Given the description of an element on the screen output the (x, y) to click on. 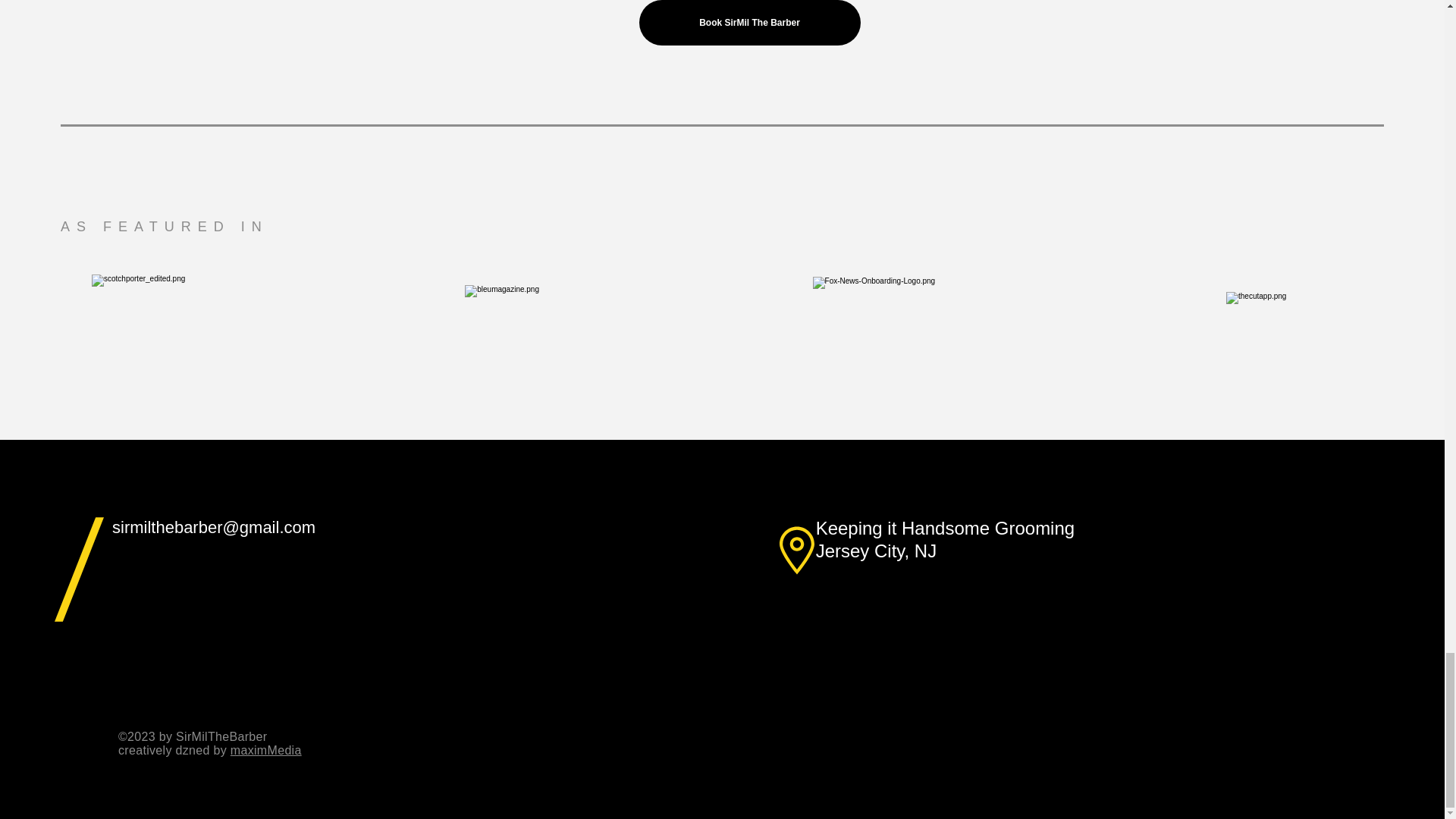
Book SirMil The Barber (749, 22)
maximMedia (265, 749)
